Given the description of an element on the screen output the (x, y) to click on. 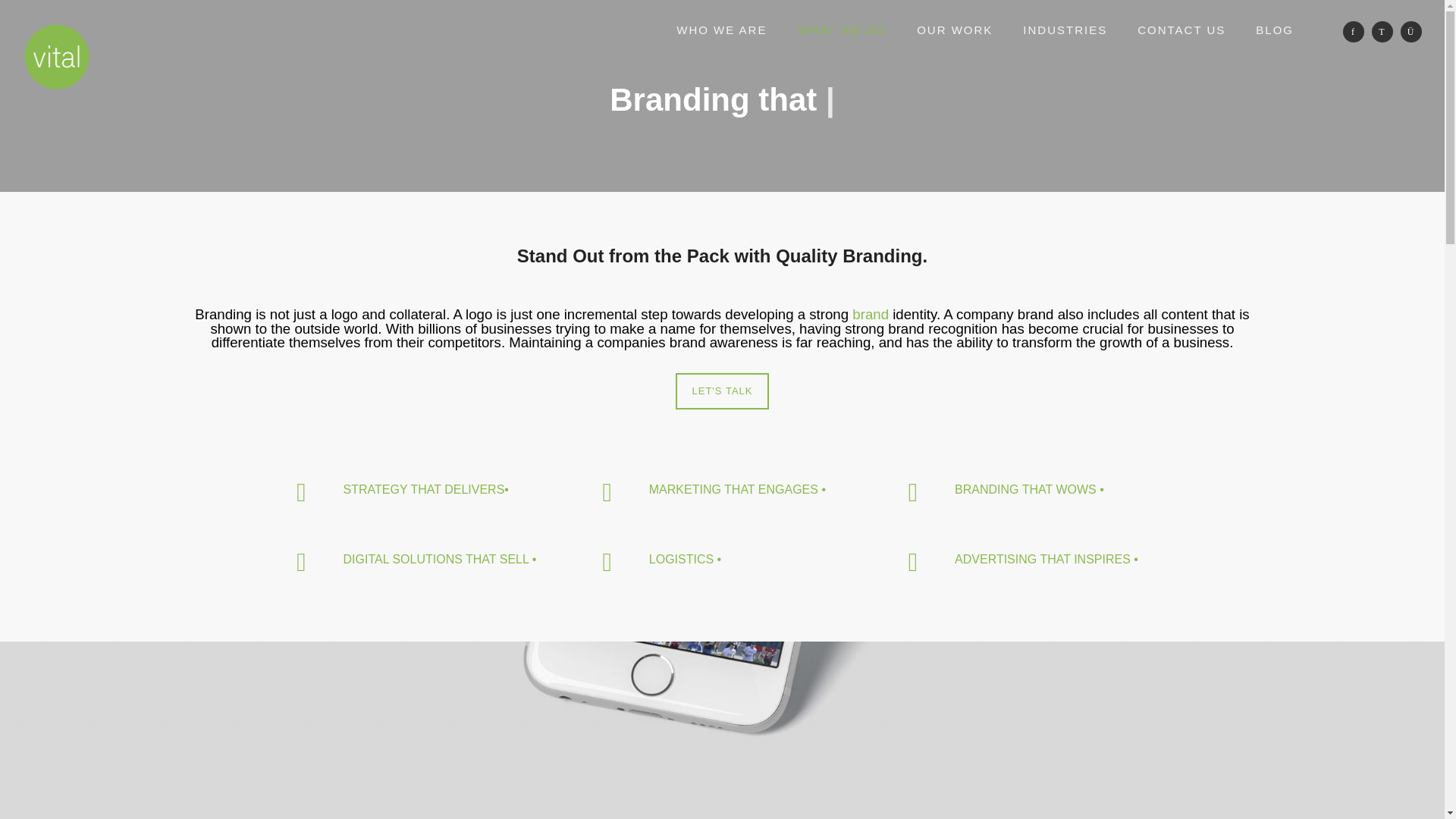
WHAT WE DO (841, 29)
BLOG (1274, 29)
What We Do (841, 29)
Who We Are (721, 29)
INDUSTRIES (1064, 29)
WHO WE ARE (721, 29)
CONTACT US (1181, 29)
OUR WORK (954, 29)
